Given the description of an element on the screen output the (x, y) to click on. 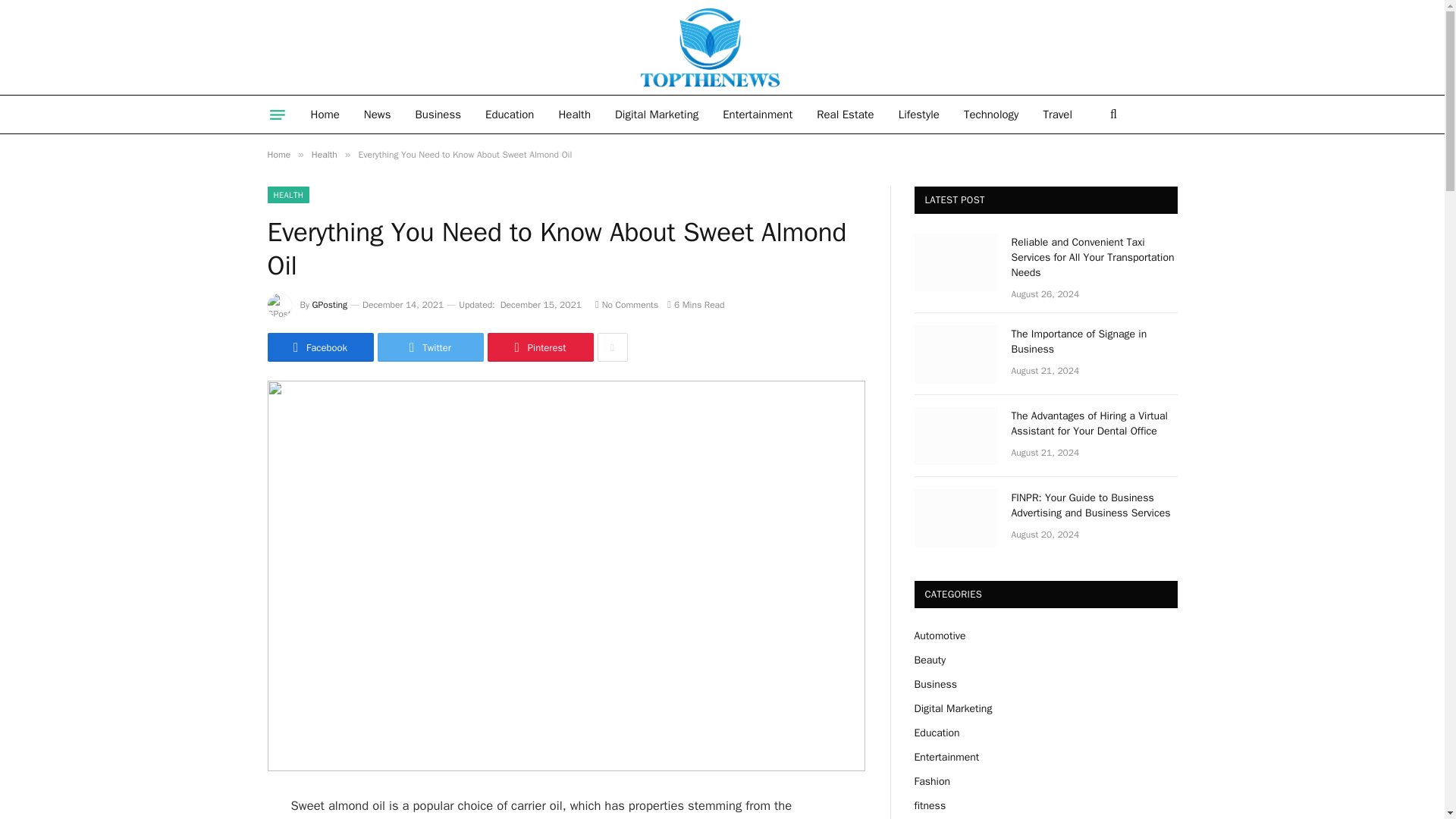
HEALTH (287, 194)
Twitter (430, 346)
Home (277, 154)
Show More Social Sharing (611, 346)
GPosting (330, 304)
Home (325, 114)
Facebook (319, 346)
Posts by GPosting (330, 304)
News (377, 114)
Technology (991, 114)
